Given the description of an element on the screen output the (x, y) to click on. 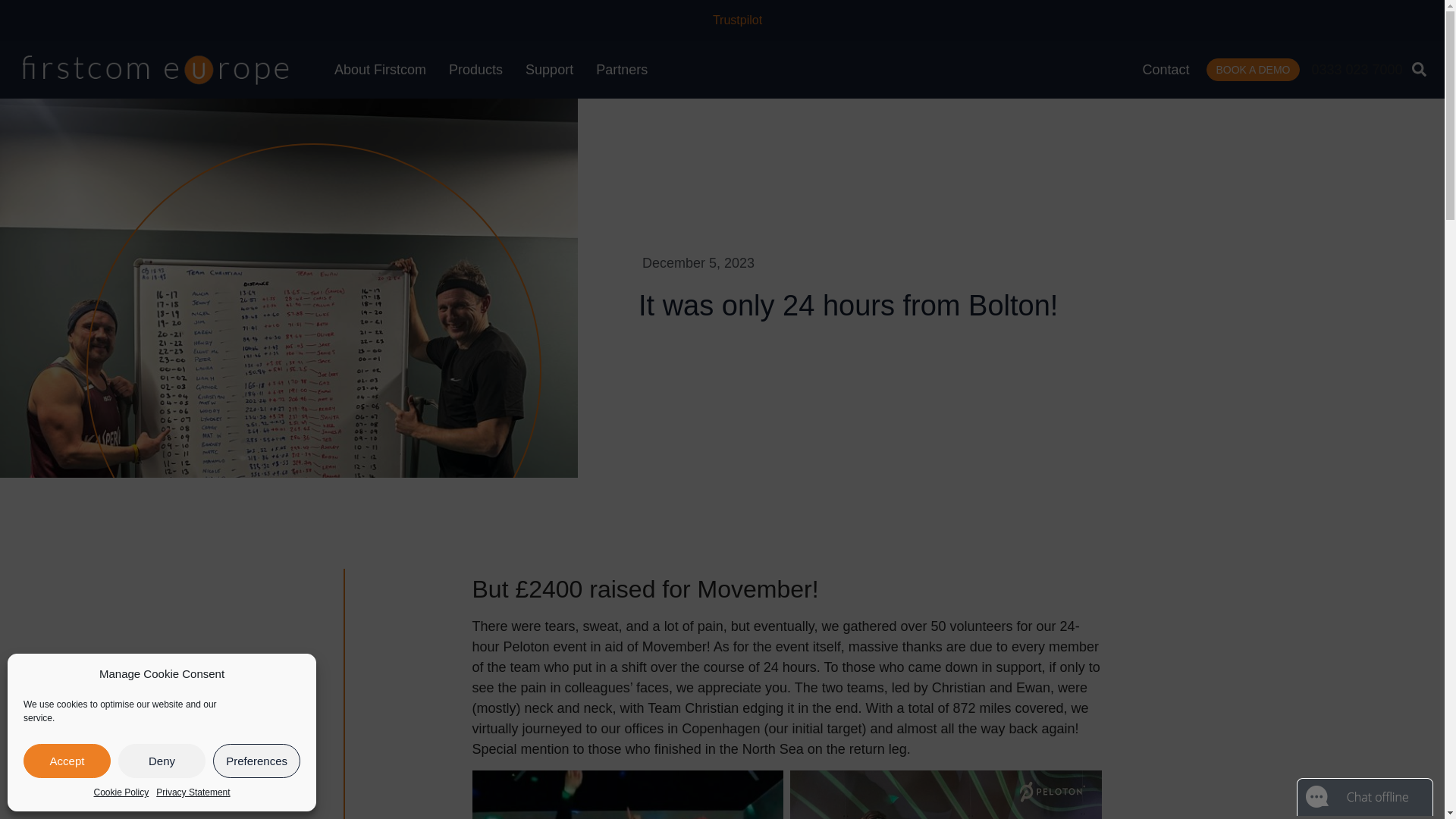
Products (476, 69)
Deny (161, 760)
Trustpilot (737, 19)
Accept (66, 760)
Preferences (255, 760)
Contact (1165, 68)
BOOK A DEMO (1252, 69)
Partners (621, 69)
Support (549, 69)
Privacy Statement (192, 792)
About Firstcom (379, 69)
Cookie Policy (121, 792)
